Given the description of an element on the screen output the (x, y) to click on. 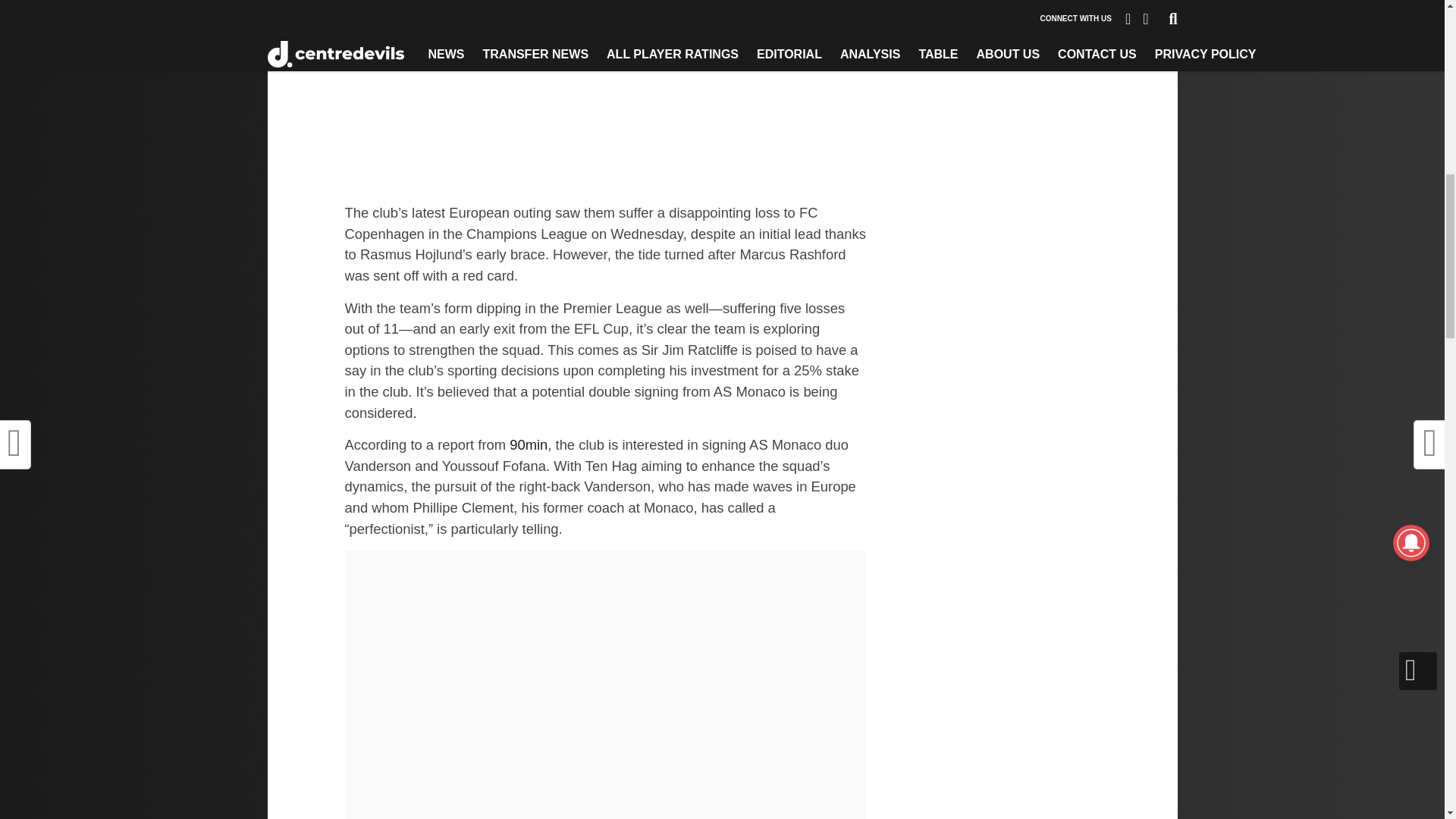
90min (528, 444)
